Given the description of an element on the screen output the (x, y) to click on. 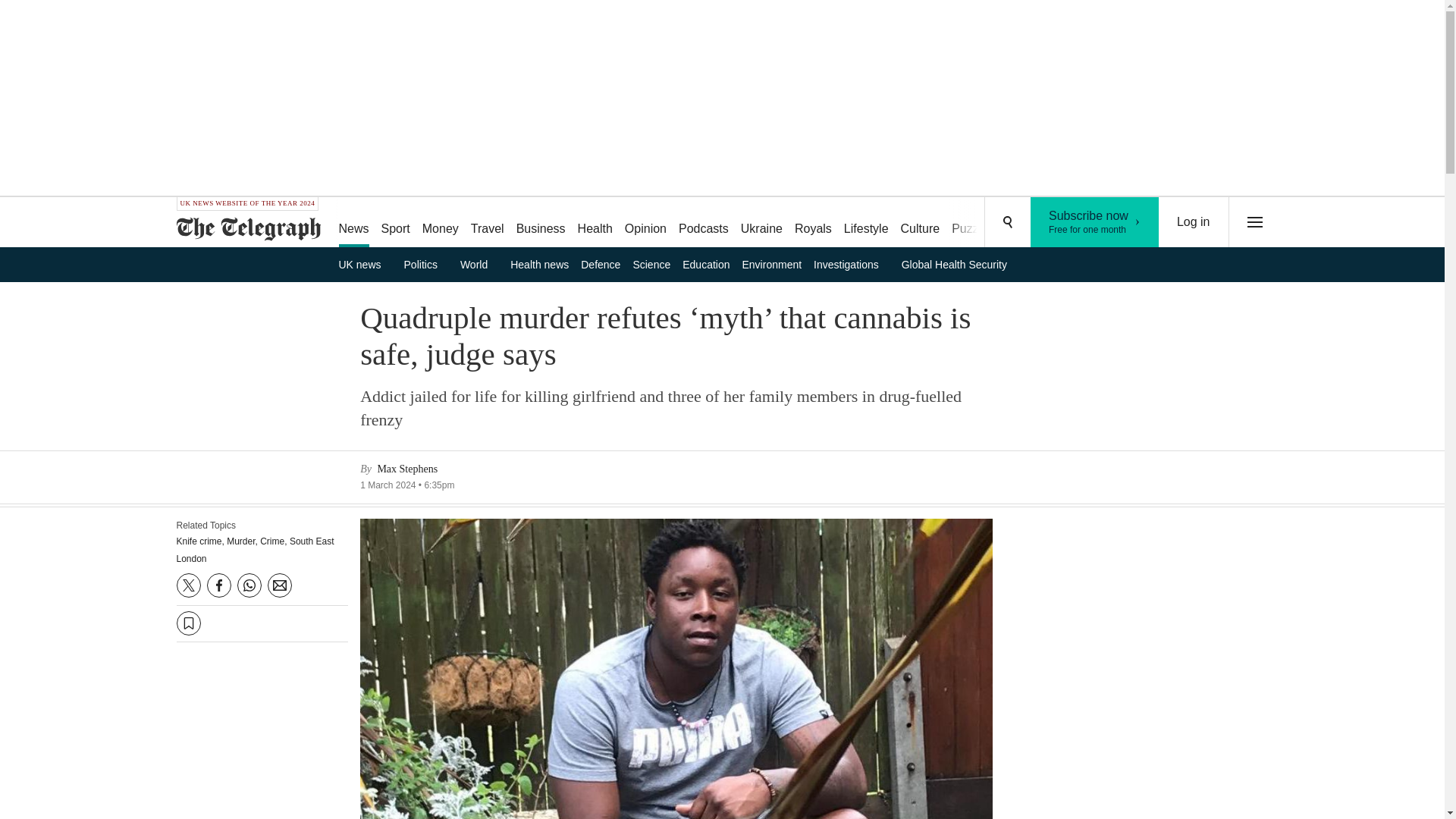
Royals (813, 223)
Money (440, 223)
Lifestyle (866, 223)
Puzzles (972, 223)
Opinion (645, 223)
Politics (425, 264)
World (478, 264)
Health (595, 223)
Log in (1193, 222)
UK news (364, 264)
Culture (920, 223)
Ukraine (762, 223)
Business (541, 223)
Podcasts (703, 223)
